Given the description of an element on the screen output the (x, y) to click on. 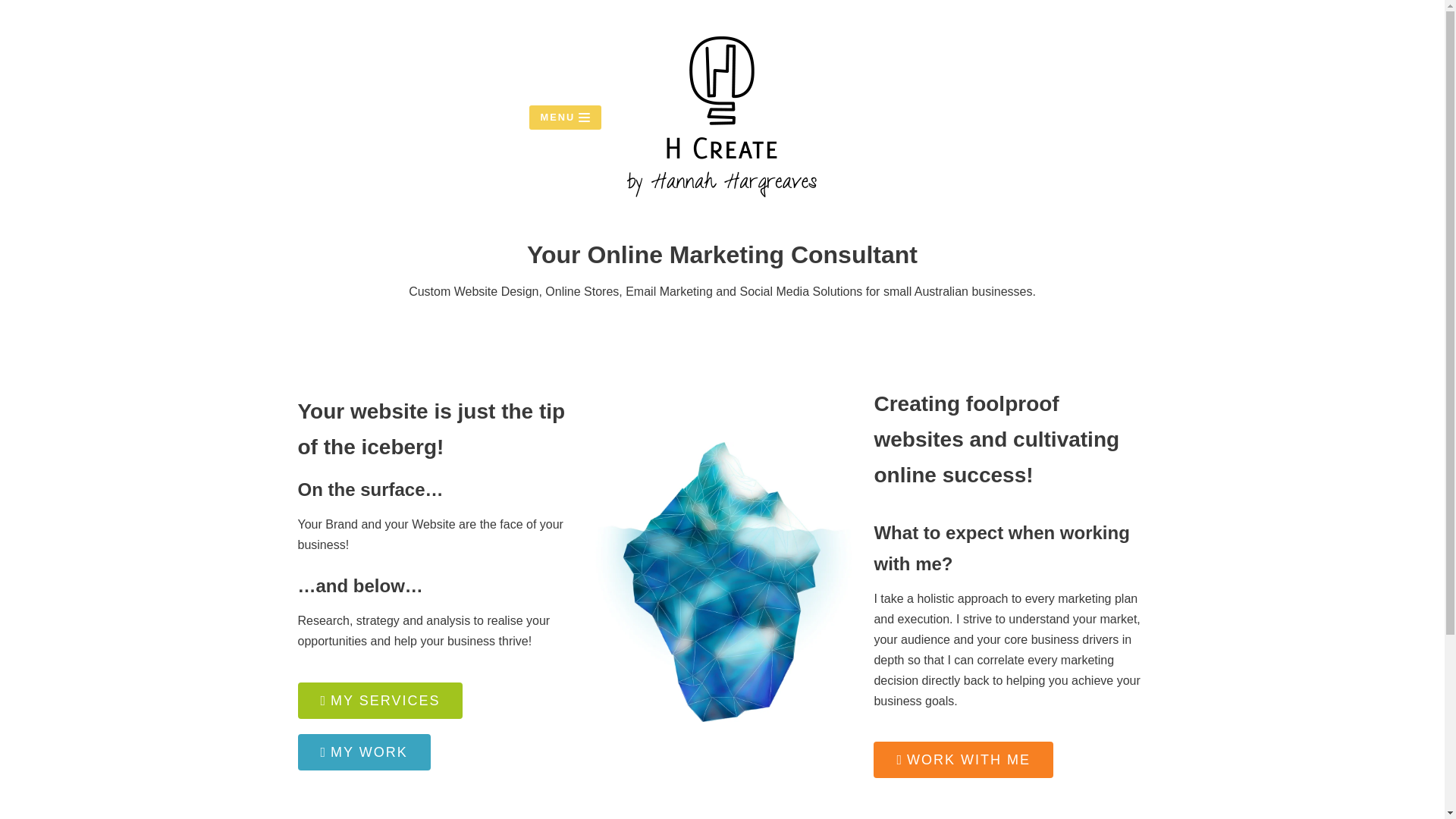
H Create by Hannah Hargreaves (721, 117)
Skip to content (15, 31)
MENU (565, 117)
WORK WITH ME (962, 760)
MY SERVICES (380, 700)
MY WORK (363, 751)
